Given the description of an element on the screen output the (x, y) to click on. 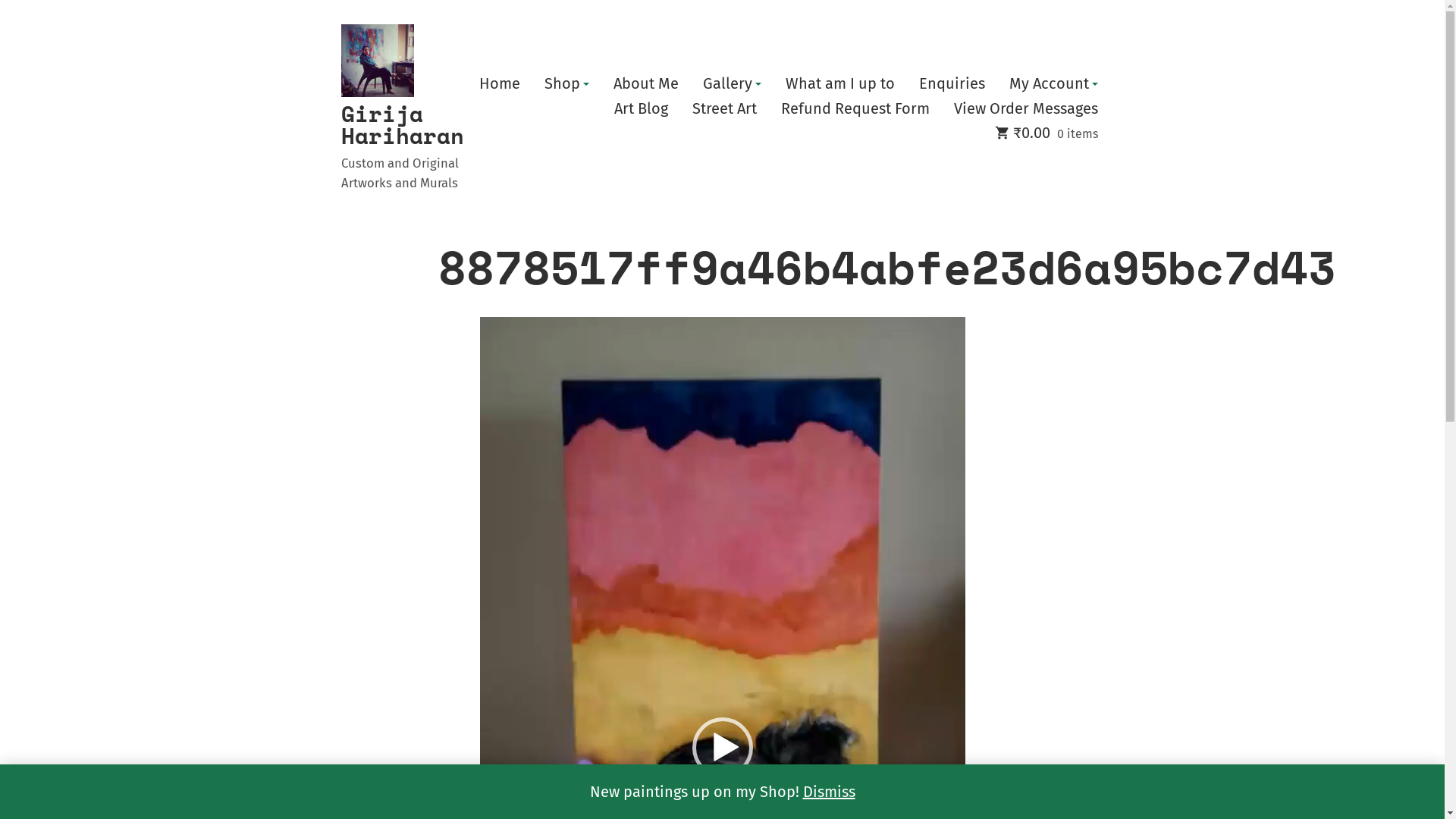
Street Art Element type: text (723, 108)
Girija Hariharan Element type: text (402, 124)
What am I up to Element type: text (839, 84)
Dismiss Element type: text (828, 791)
Gallery Element type: text (731, 84)
Refund Request Form Element type: text (855, 108)
Home Element type: text (499, 84)
Art Blog Element type: text (641, 108)
Shop Element type: text (566, 84)
Enquiries Element type: text (952, 84)
My Account Element type: text (1052, 84)
About Me Element type: text (644, 84)
View Order Messages Element type: text (1025, 108)
